Given the description of an element on the screen output the (x, y) to click on. 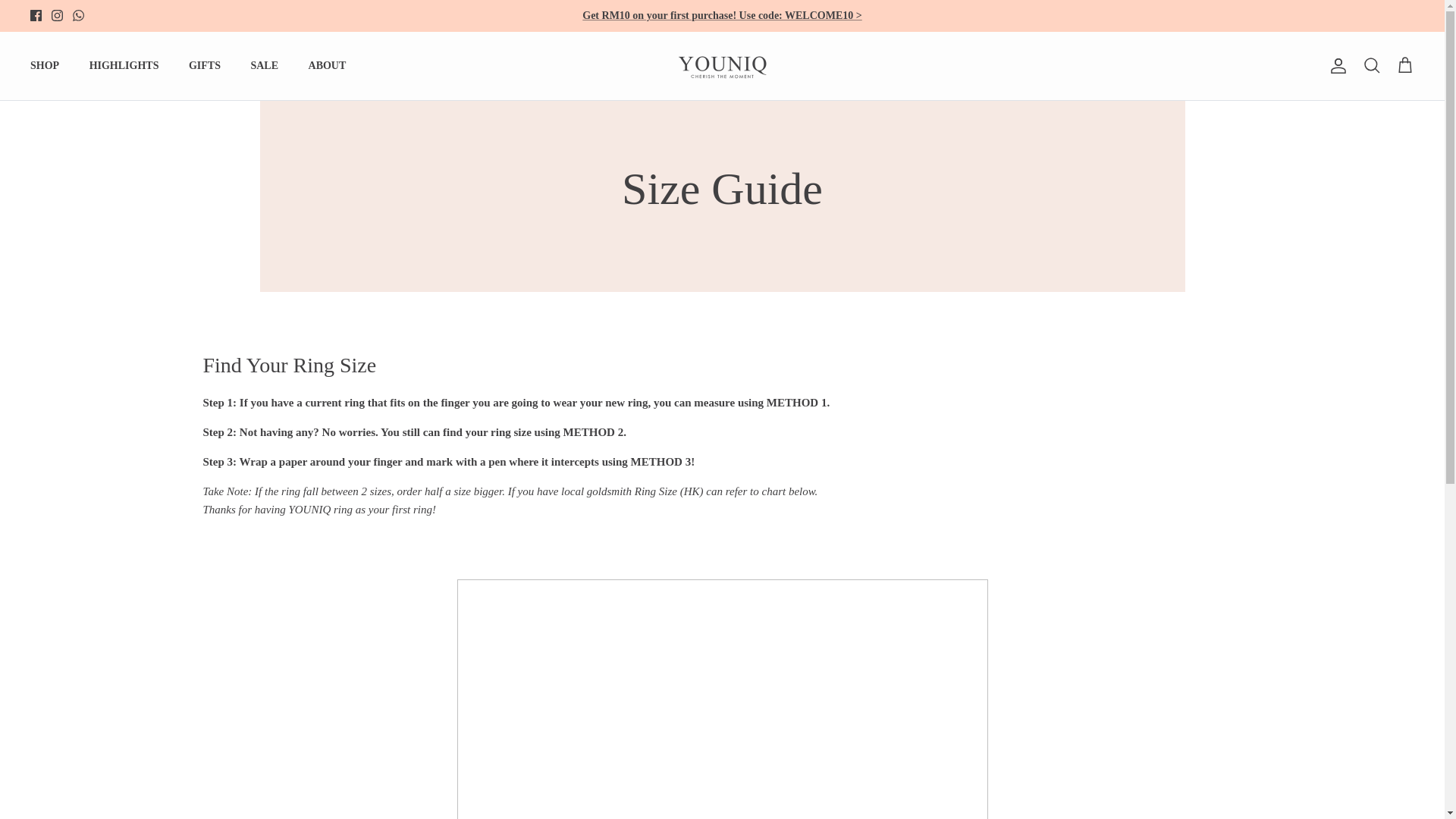
ABOUT (327, 65)
HIGHLIGHTS (124, 65)
Cart (1404, 66)
GIFTS (204, 65)
Search (1371, 66)
Instagram (56, 15)
YOUNIQ (721, 65)
SALE (263, 65)
All products (721, 15)
Account (1335, 65)
